Given the description of an element on the screen output the (x, y) to click on. 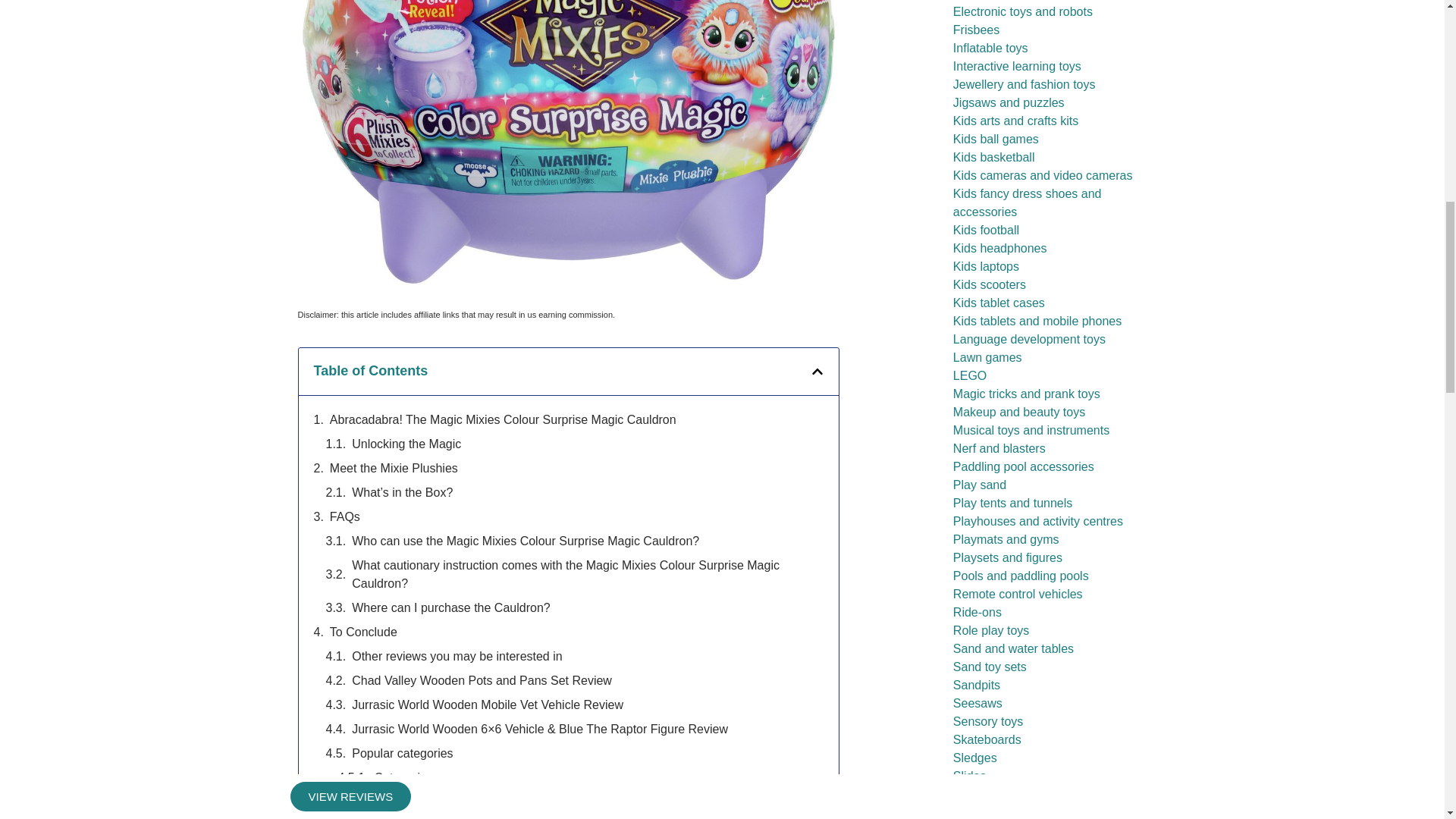
Other reviews you may be interested in (457, 656)
FAQs (344, 516)
Meet the Mixie Plushies (394, 468)
Where can I purchase the Cauldron? (451, 607)
Chad Valley Wooden Pots and Pans Set Review (481, 680)
Unlocking the Magic (406, 443)
To Conclude (363, 632)
Jurrasic World Wooden Mobile Vet Vehicle Review (487, 705)
Abracadabra! The Magic Mixies Colour Surprise Magic Cauldron (503, 420)
Who can use the Magic Mixies Colour Surprise Magic Cauldron? (525, 541)
Categories (403, 778)
Popular categories (402, 753)
